Given the description of an element on the screen output the (x, y) to click on. 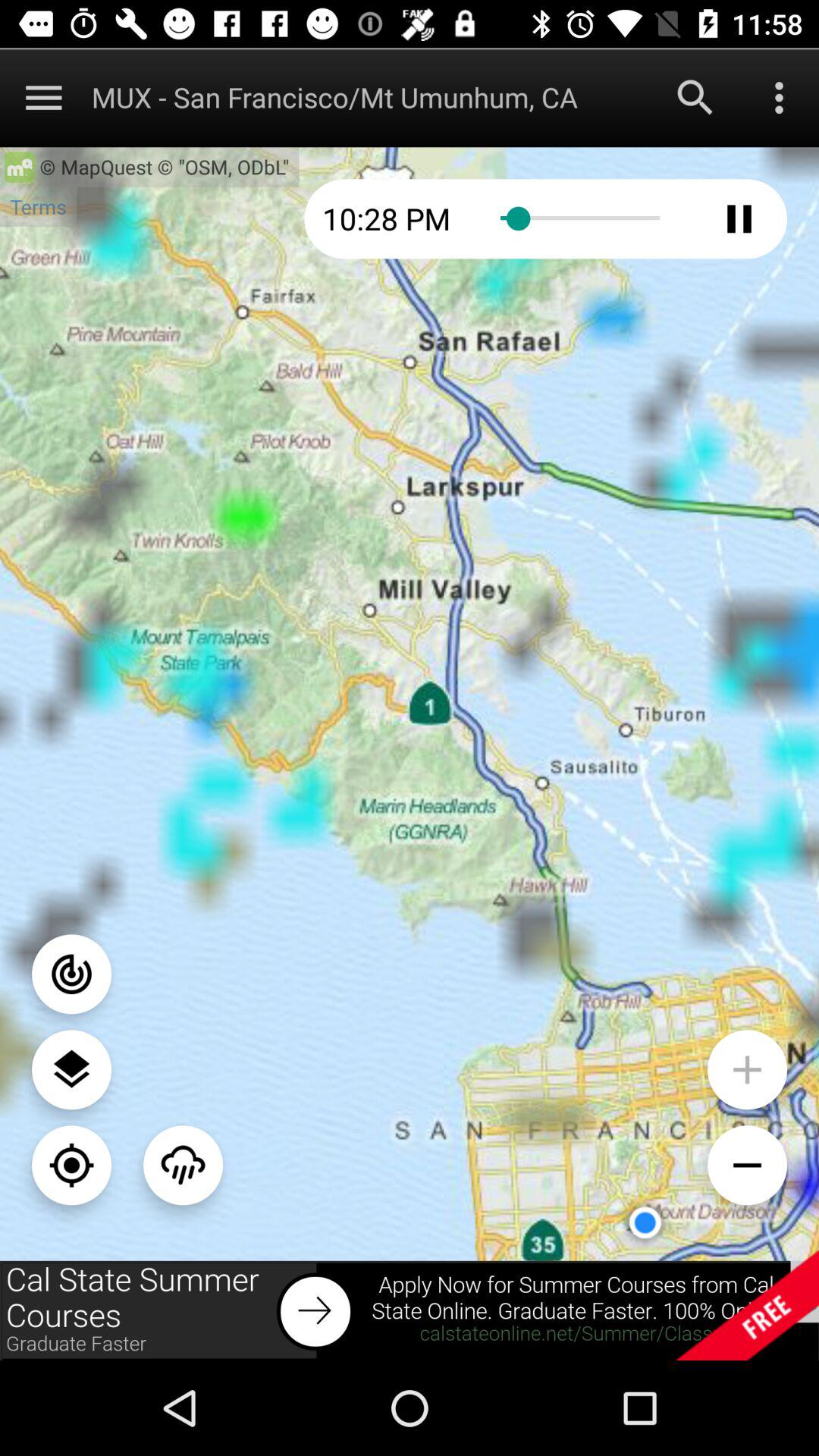
zoom out on map (747, 1165)
